Given the description of an element on the screen output the (x, y) to click on. 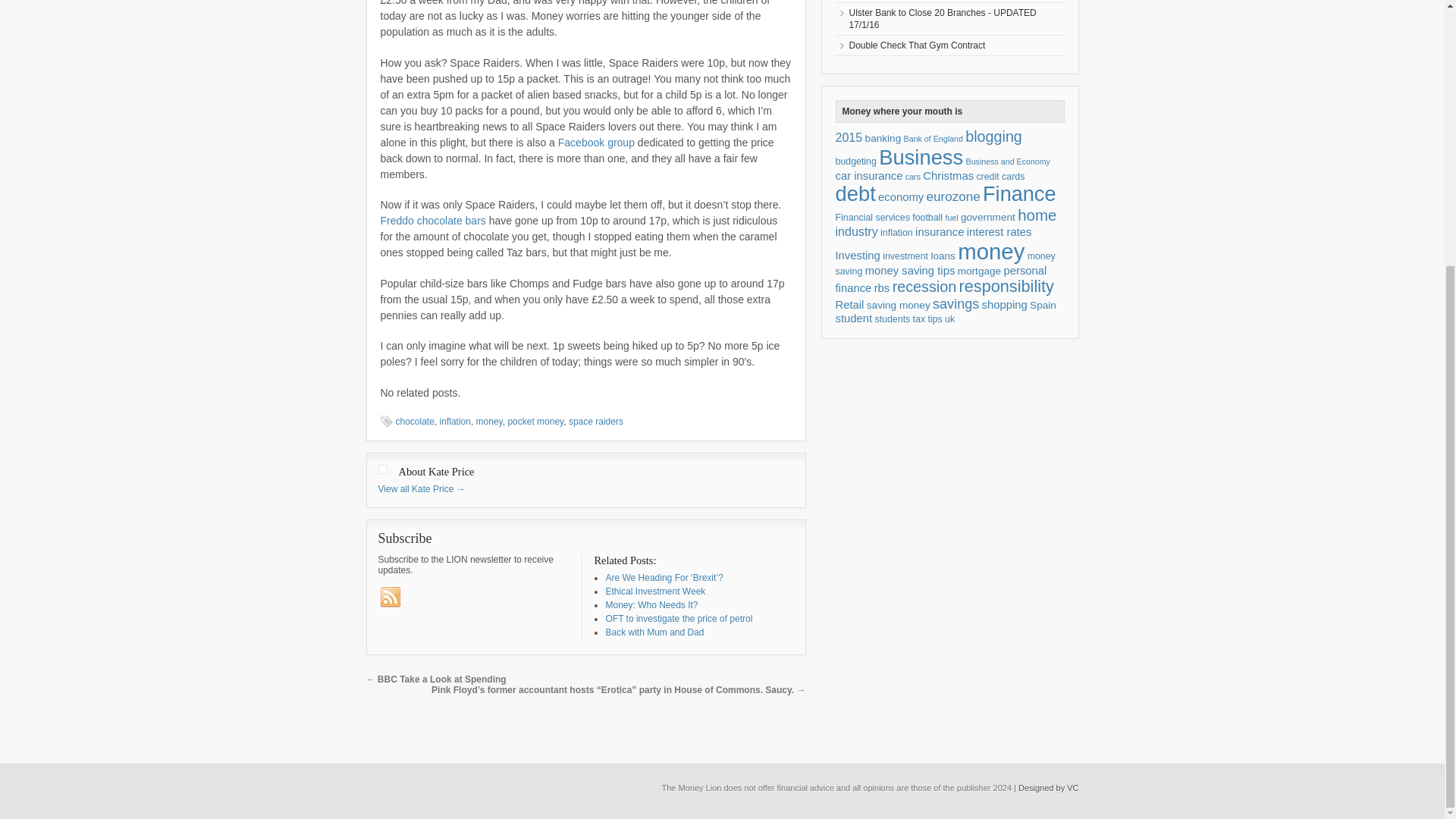
banking (882, 138)
Money: Who Needs It? (651, 604)
OFT to investigate the price of petrol (678, 618)
2015 (849, 137)
Ethical Investment Week (654, 591)
Back with Mum and Dad (654, 632)
chocolate (414, 421)
Freddo chocolate bars (434, 220)
inflation (454, 421)
space raiders (596, 421)
